Given the description of an element on the screen output the (x, y) to click on. 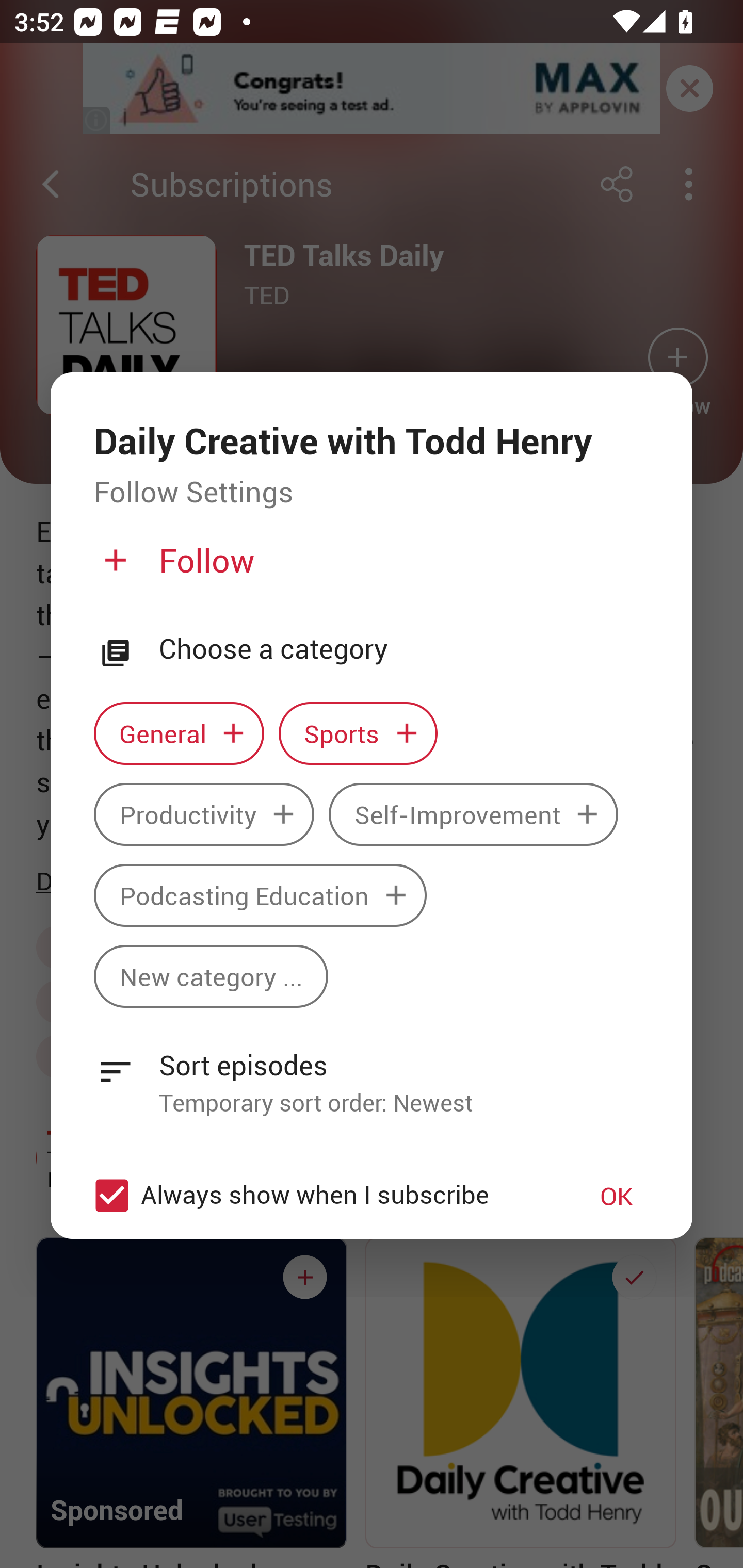
Follow (369, 568)
Choose a category (404, 648)
General (178, 733)
Sports (357, 733)
Productivity (203, 813)
Self-Improvement (473, 813)
Podcasting Education (259, 894)
New category ... (210, 976)
Sort episodes Temporary sort order: Newest (371, 1072)
OK (616, 1195)
Always show when I subscribe (320, 1195)
